Given the description of an element on the screen output the (x, y) to click on. 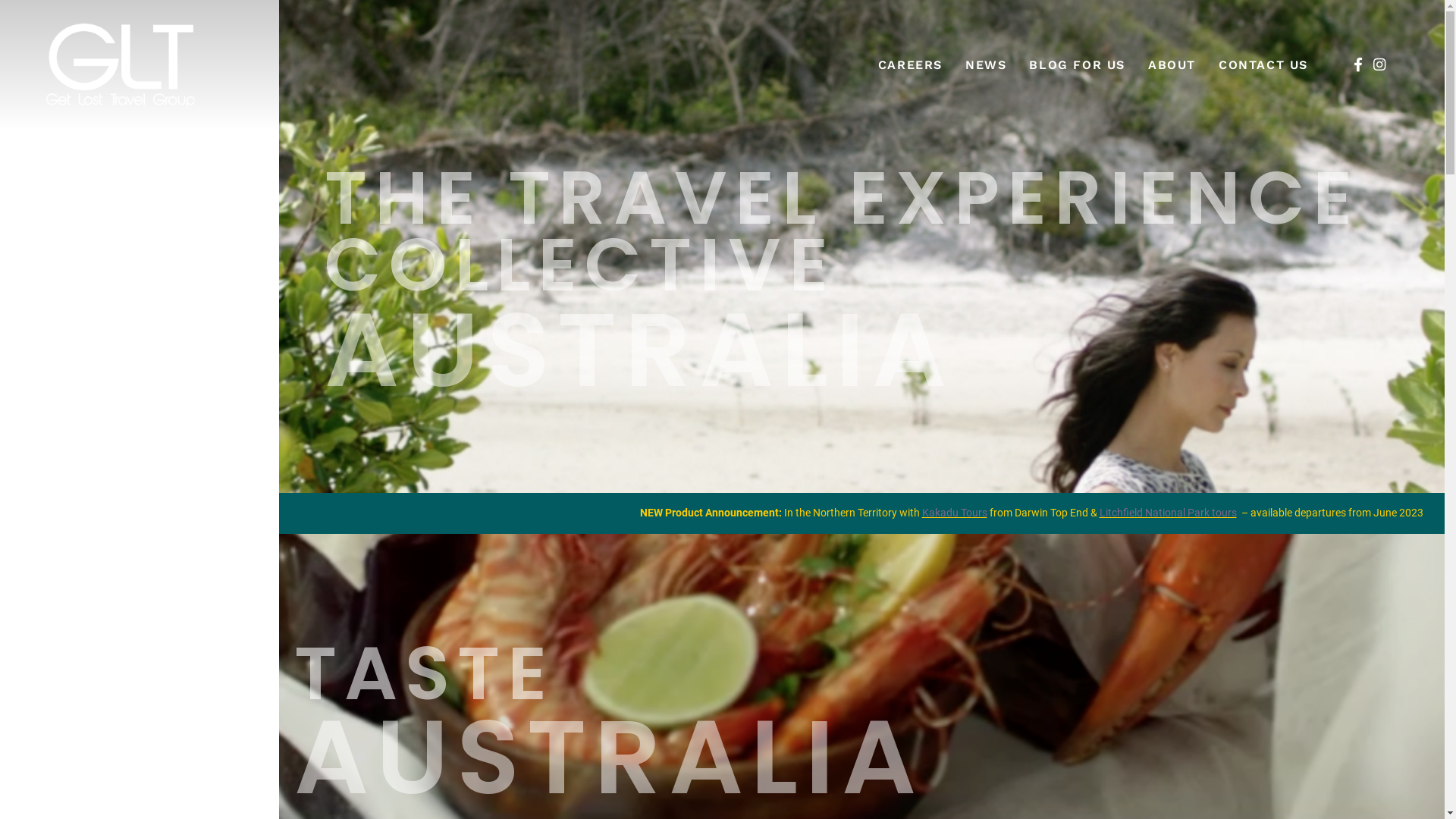
ABOUT Element type: text (1171, 65)
BLOG FOR US Element type: text (1077, 65)
CONTACT US Element type: text (1263, 65)
NEWS Element type: text (985, 65)
CAREERS Element type: text (910, 65)
Kakadu Tours Element type: text (954, 512)
Litchfield National Park tours Element type: text (1167, 512)
